Given the description of an element on the screen output the (x, y) to click on. 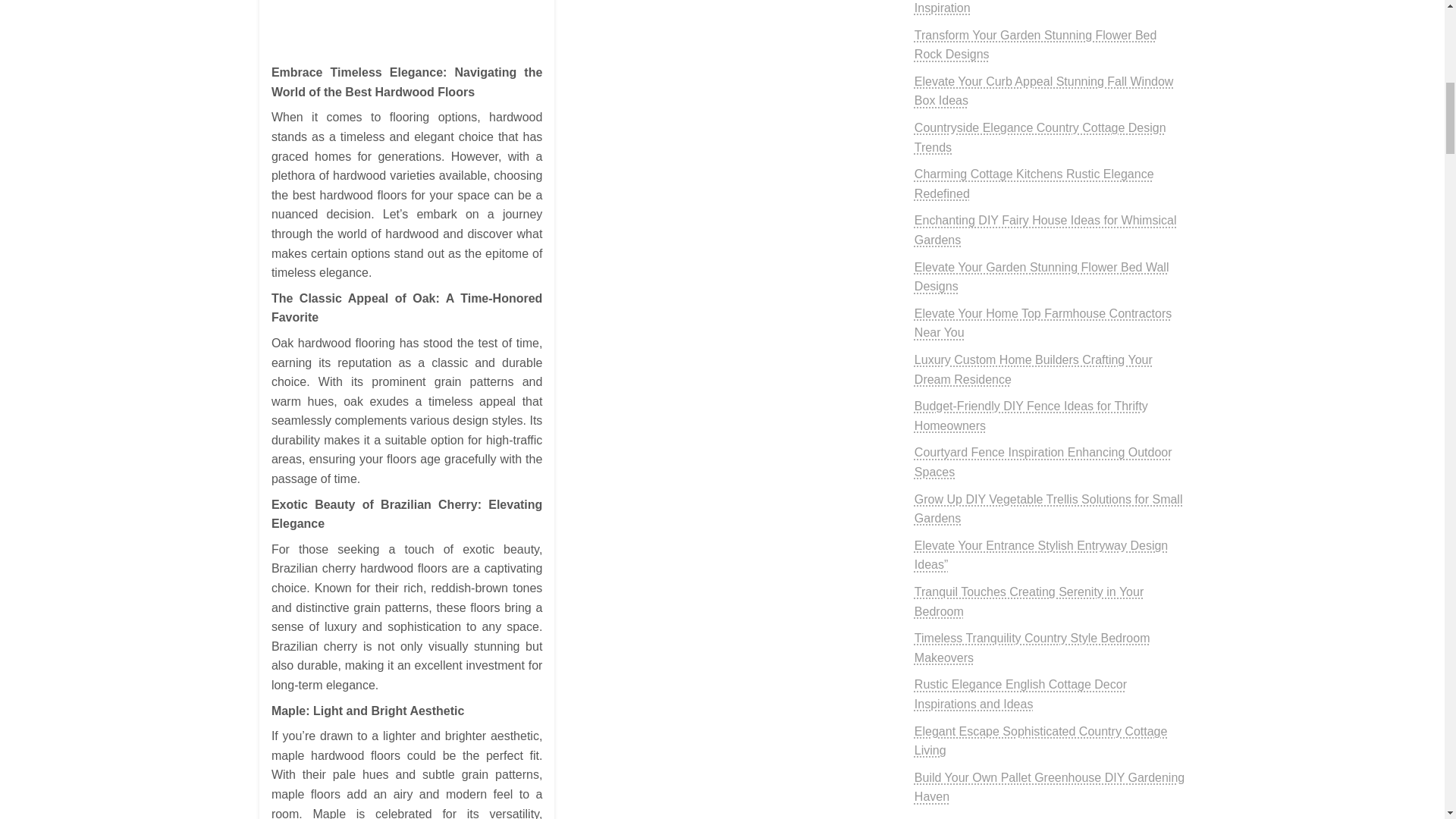
Elevate Your Curb Appeal Stunning Fall Window Box Ideas (1043, 91)
Enchanting DIY Fairy House Ideas for Whimsical Gardens (1045, 229)
Countryside Elegance Country Cottage Design Trends (1040, 137)
Transform Your Garden Stunning Flower Bed Rock Designs (1035, 44)
Elevate Your Garden Stunning Flower Bed Wall Designs (1041, 277)
Timeless Elegance Choosing the Best Hardwood Floors (405, 28)
Autumn Atmosphere Welcoming Home Decor Inspiration (1036, 7)
Charming Cottage Kitchens Rustic Elegance Redefined (1034, 183)
